Given the description of an element on the screen output the (x, y) to click on. 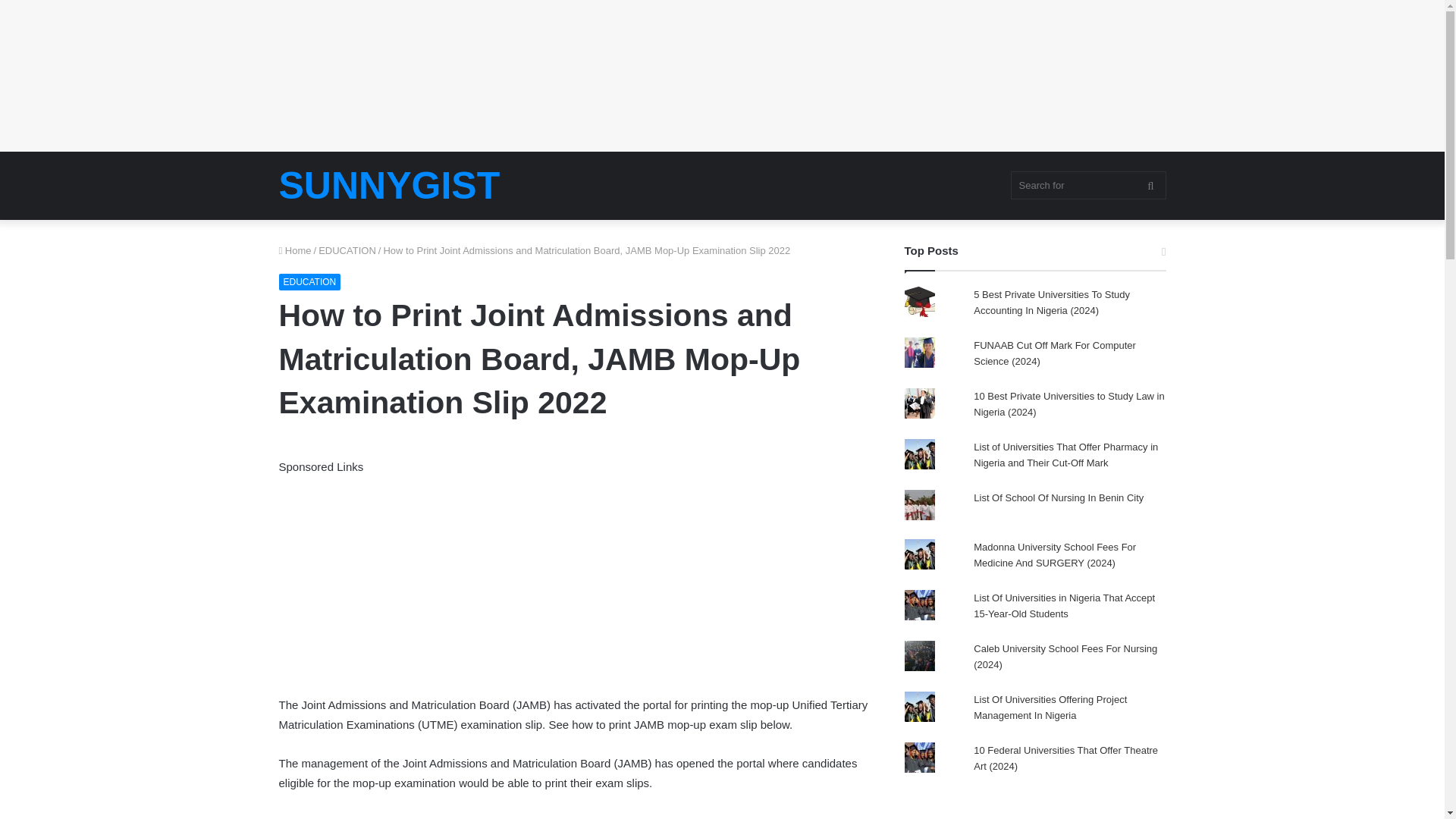
EDUCATION (346, 250)
Advertisement (574, 582)
SUNNYGIST (389, 185)
Search for (1088, 185)
SUNNYGIST (389, 185)
EDUCATION (309, 281)
Home (295, 250)
